Given the description of an element on the screen output the (x, y) to click on. 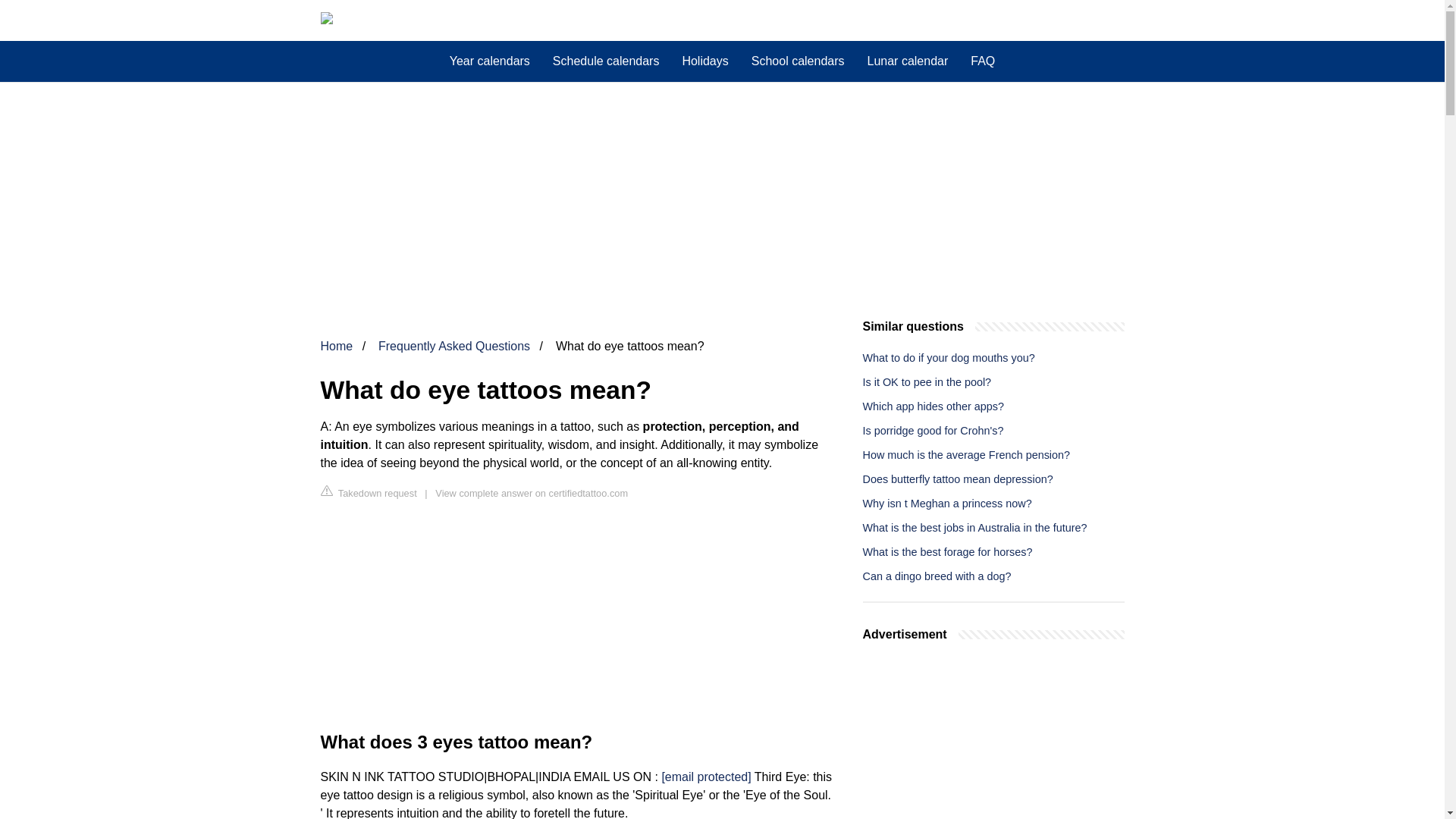
View complete answer on certifiedtattoo.com (531, 492)
Takedown request (368, 492)
Schedule calendars (606, 60)
FAQ (982, 60)
Home (336, 345)
Lunar calendar (907, 60)
School calendars (797, 60)
Frequently Asked Questions (453, 345)
Holidays (704, 60)
Year calendars (489, 60)
